Given the description of an element on the screen output the (x, y) to click on. 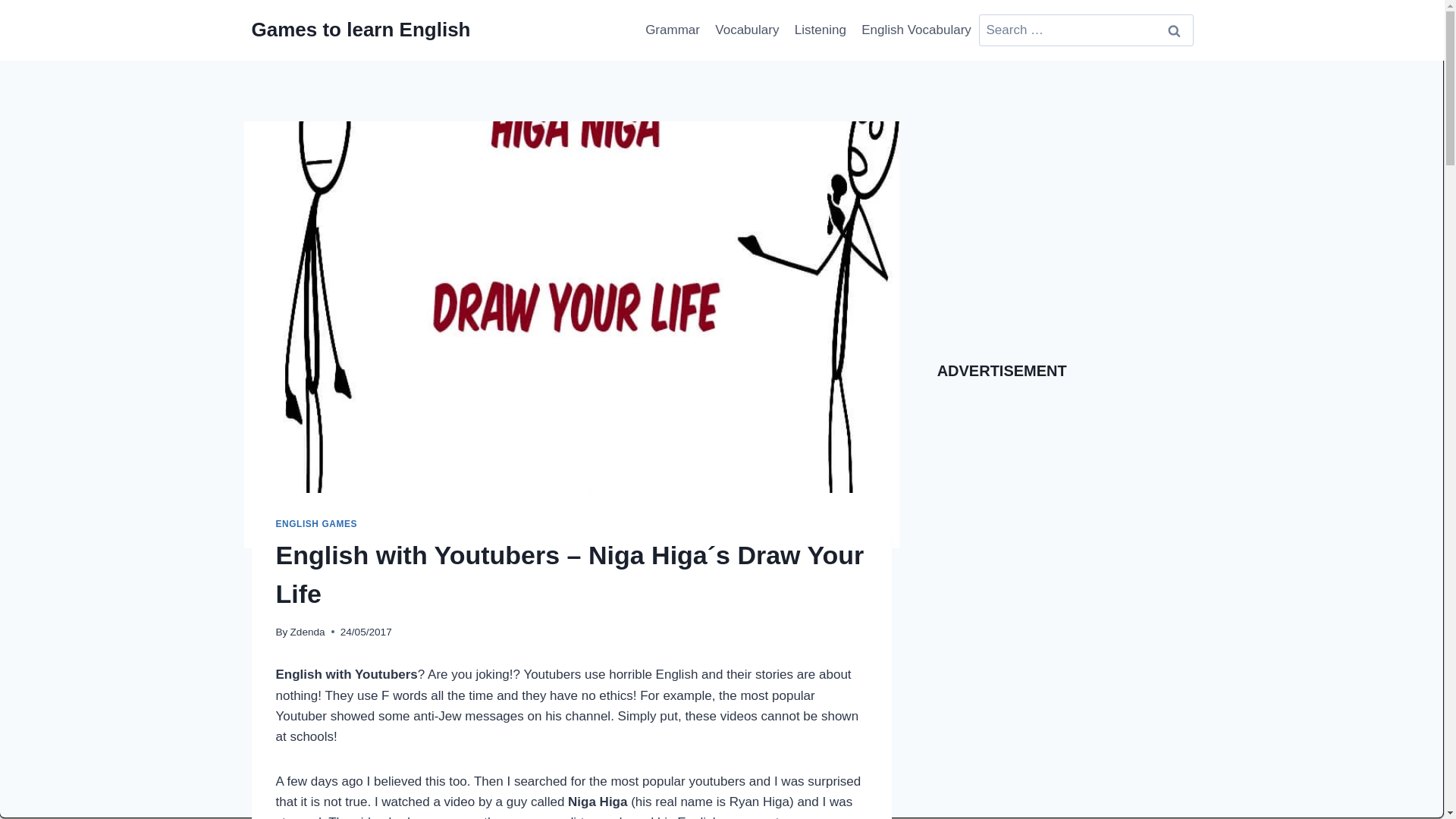
Zdenda (306, 632)
Vocabulary (747, 30)
Search (1174, 30)
Search (1174, 30)
Advertisement (1064, 227)
Grammar (672, 30)
ENGLISH GAMES (317, 523)
Search (1174, 30)
English Vocabulary (915, 30)
Games to learn English (360, 29)
